Given the description of an element on the screen output the (x, y) to click on. 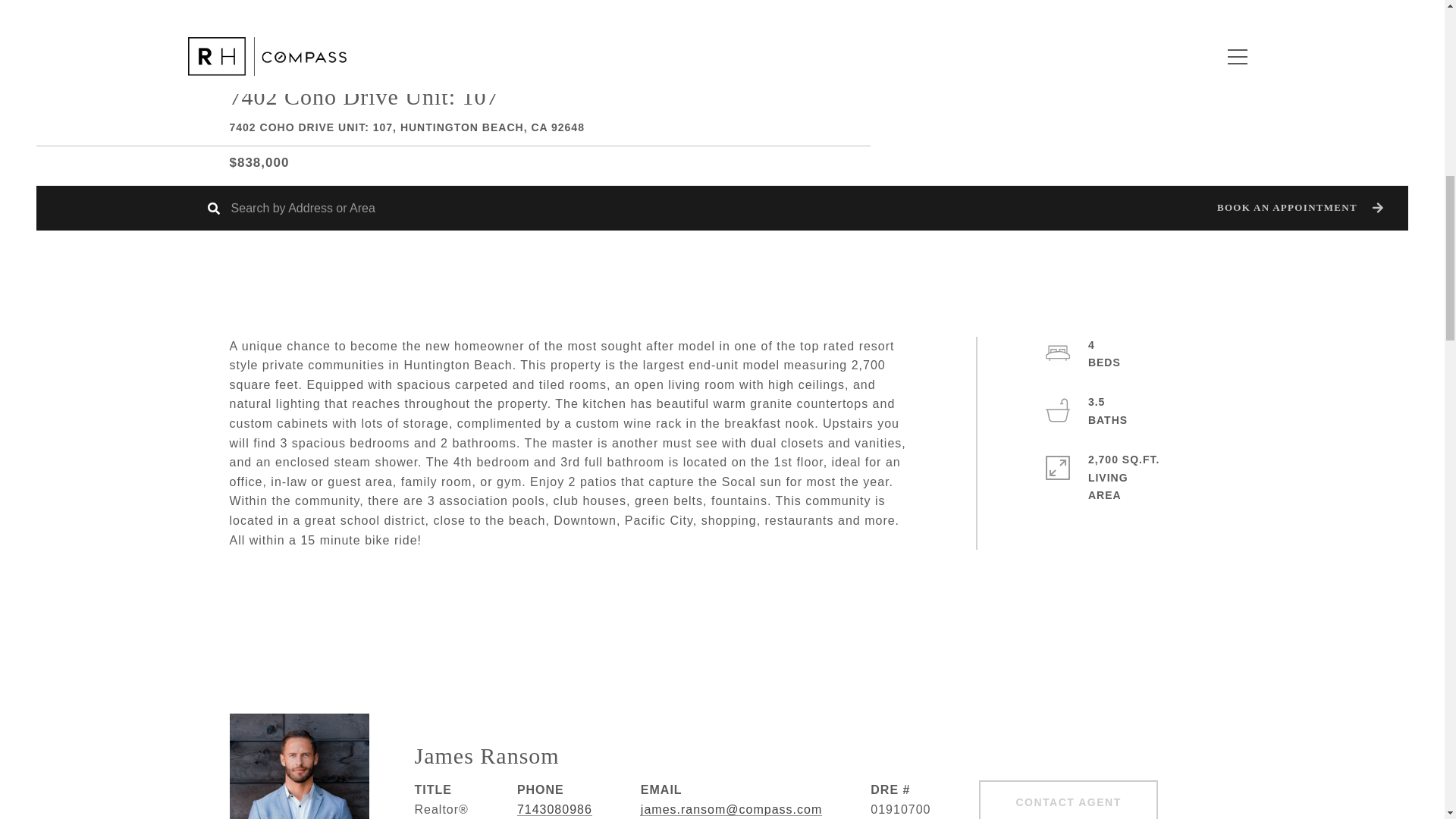
CONTACT AGENT (1067, 799)
7143080986 (554, 809)
BOOK AN APPOINTMENT (1297, 207)
